Given the description of an element on the screen output the (x, y) to click on. 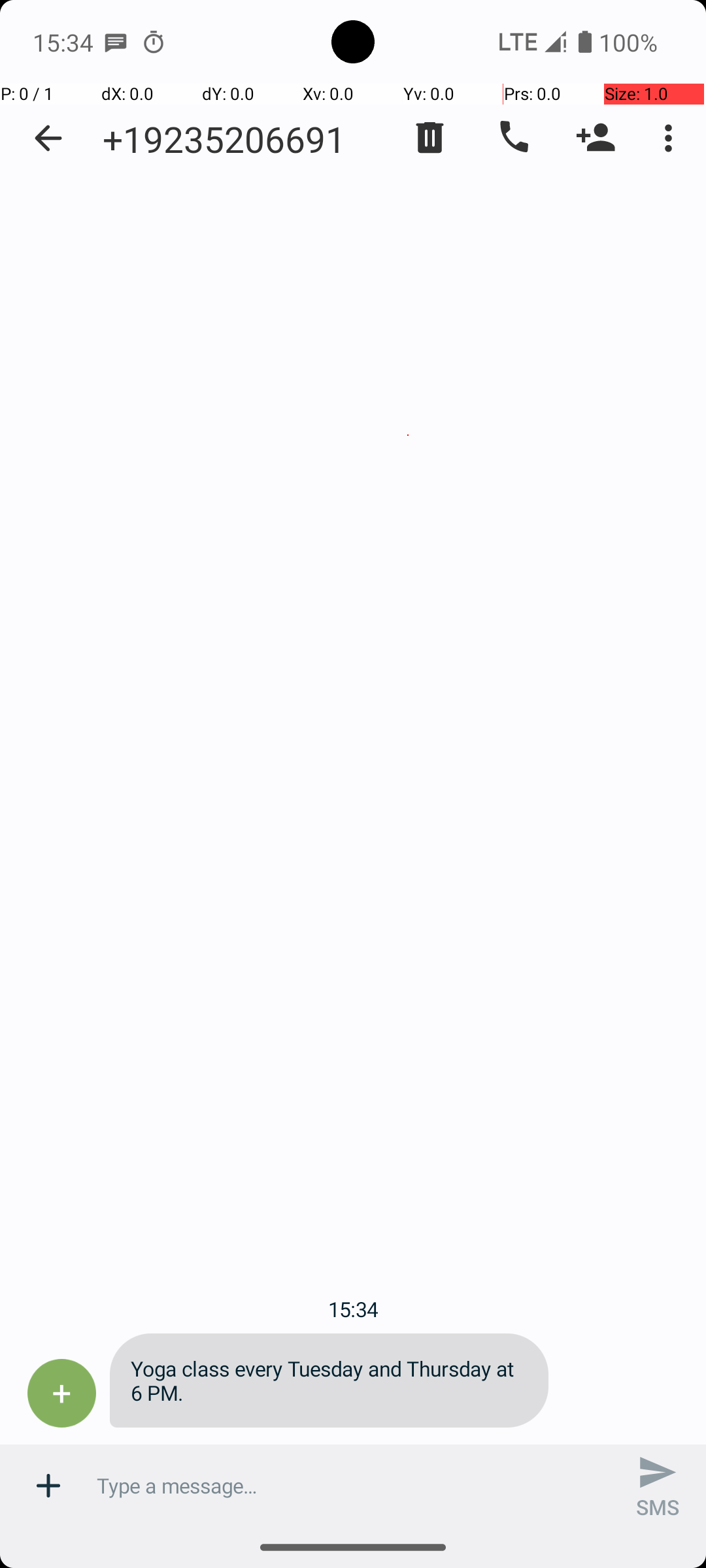
+19235206691 Element type: android.widget.TextView (223, 138)
Yoga class every Tuesday and Thursday at 6 PM. Element type: android.widget.TextView (328, 1380)
SMS Messenger notification: +15785288010 Element type: android.widget.ImageView (115, 41)
